Given the description of an element on the screen output the (x, y) to click on. 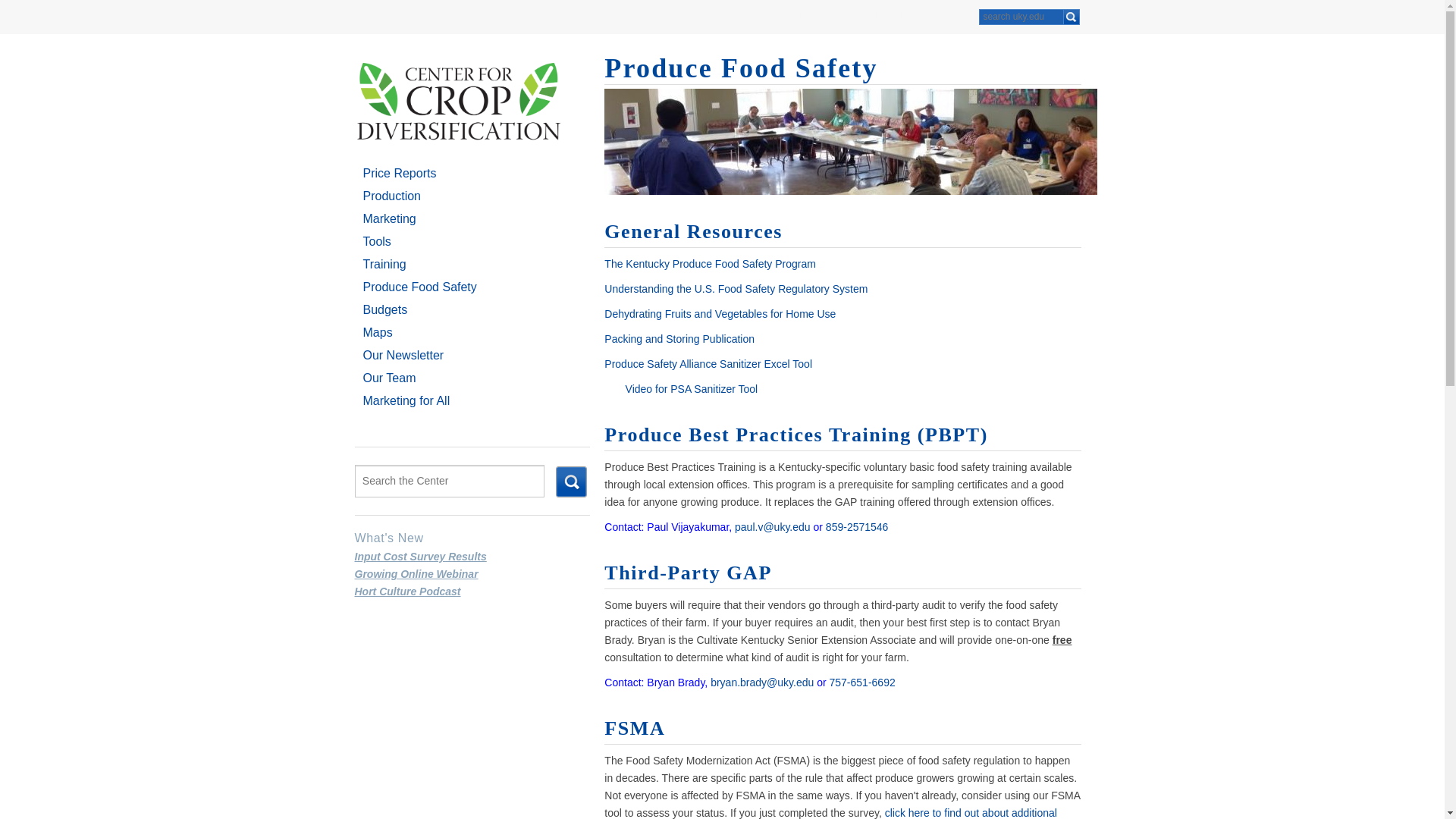
SEARCH (950, 16)
UKNOW (423, 16)
FSMA (634, 728)
Packing and Storing Publication (679, 338)
Enter the terms you wish to search for. (449, 481)
UKY.EDU (372, 16)
University of Kentucky campus directory (885, 16)
LINK BLUE (745, 16)
Search (1070, 17)
859-2571546 (856, 526)
SEEBLUE. (475, 16)
University of Kentucky news (423, 16)
